Given the description of an element on the screen output the (x, y) to click on. 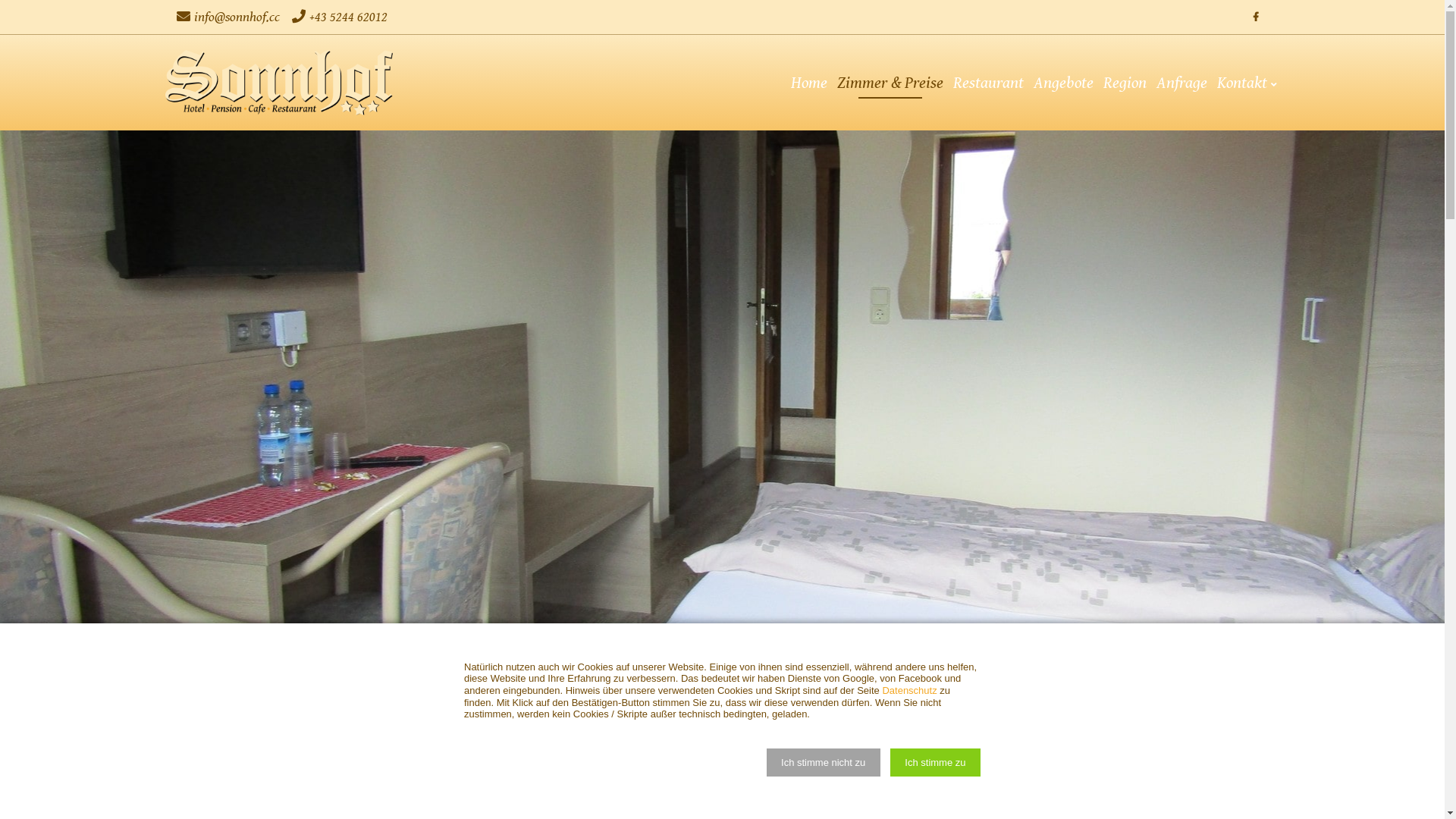
Restaurant Element type: text (987, 81)
+43 5244 62012 Element type: text (351, 16)
Angebote Element type: text (1062, 81)
Home Element type: text (808, 81)
Region Element type: text (1123, 81)
Datenschutz Element type: text (908, 690)
Facebook Element type: hover (1255, 16)
sonnhof-cc.html Element type: text (278, 82)
Kontakt Element type: text (1246, 81)
info@sonnhof.cc Element type: text (239, 16)
Anfrage Element type: text (1180, 81)
